Given the description of an element on the screen output the (x, y) to click on. 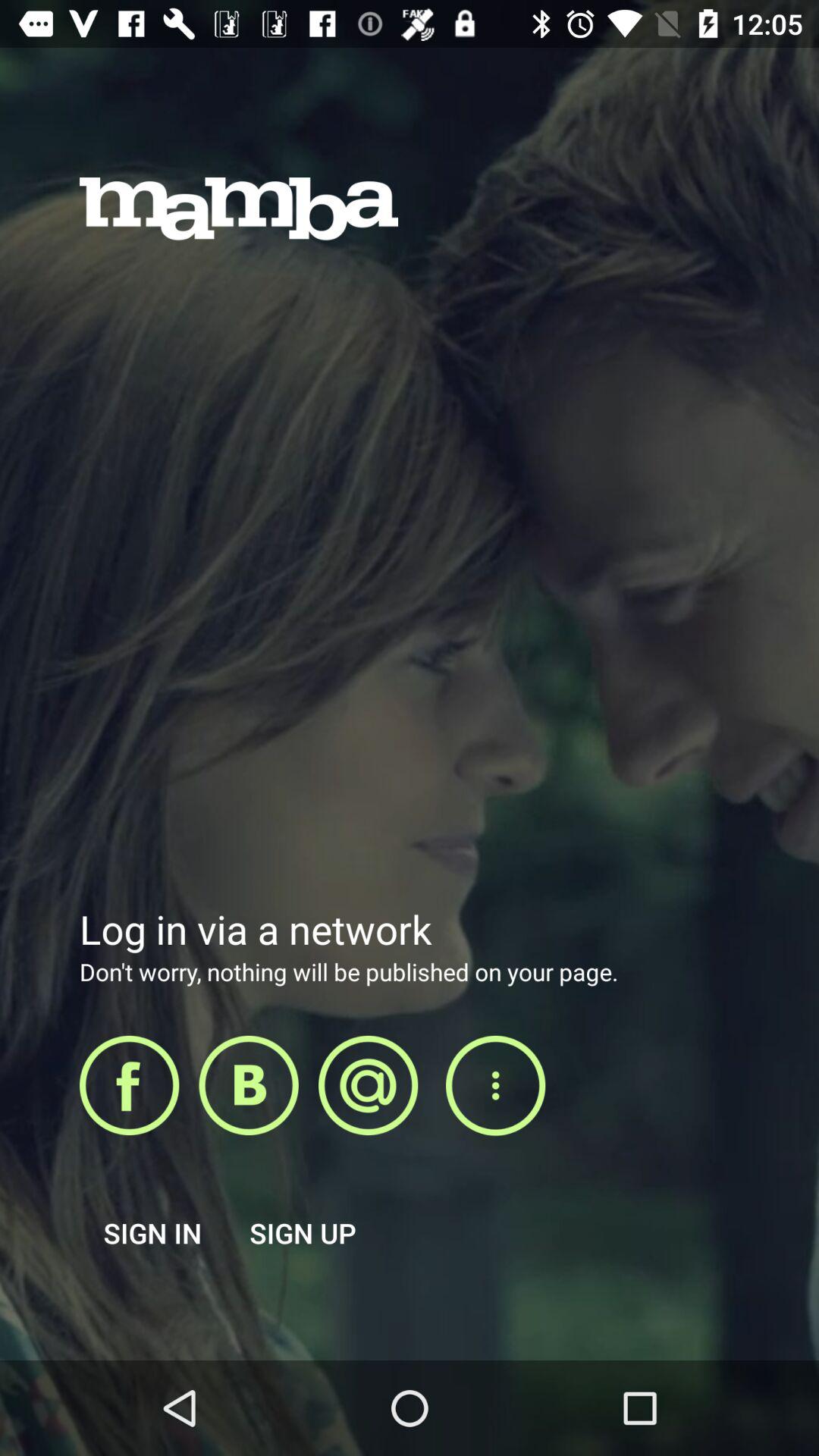
login using facebook (129, 1085)
